Given the description of an element on the screen output the (x, y) to click on. 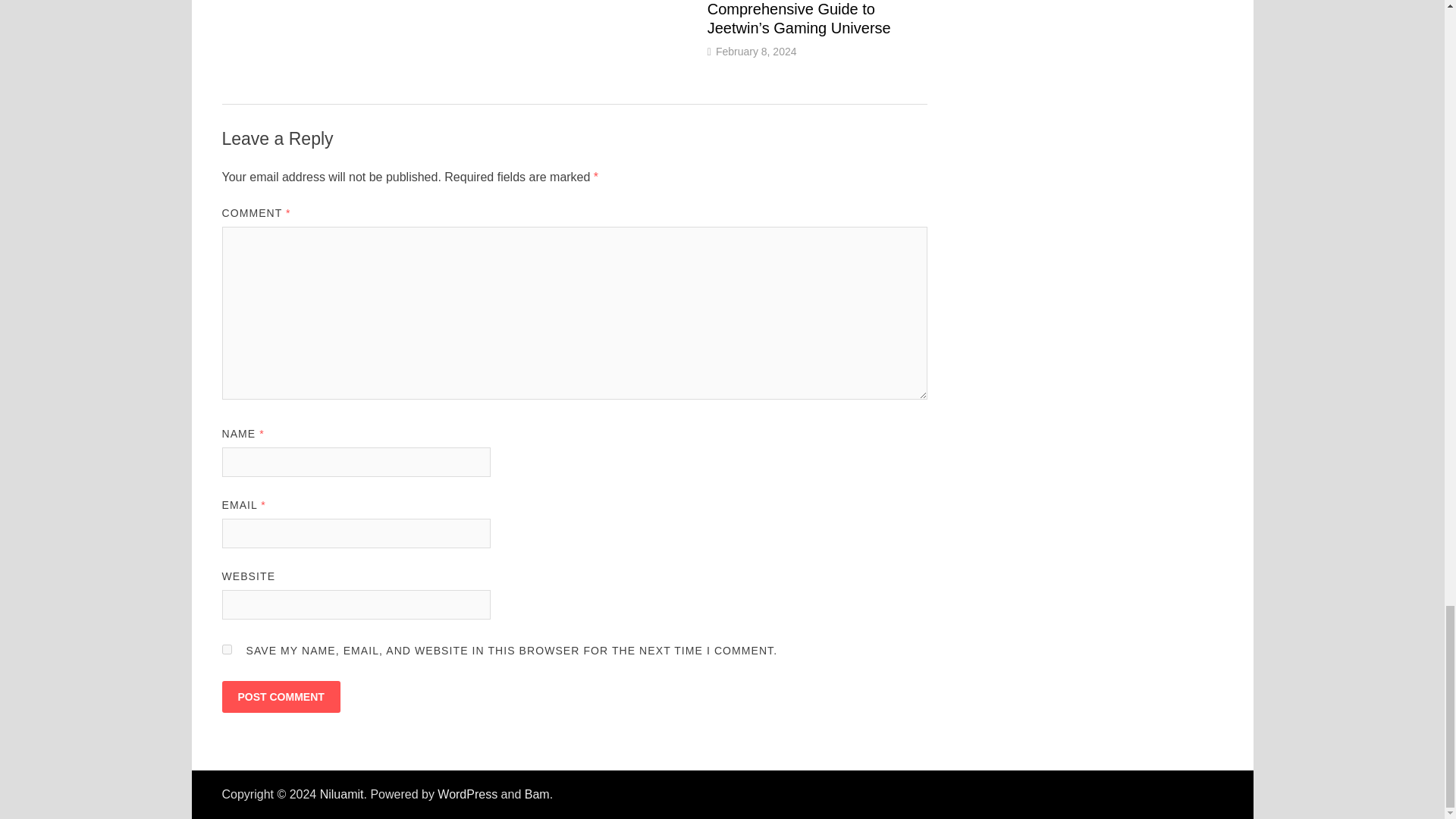
Post Comment (280, 696)
yes (226, 649)
Niluamit (342, 793)
